Given the description of an element on the screen output the (x, y) to click on. 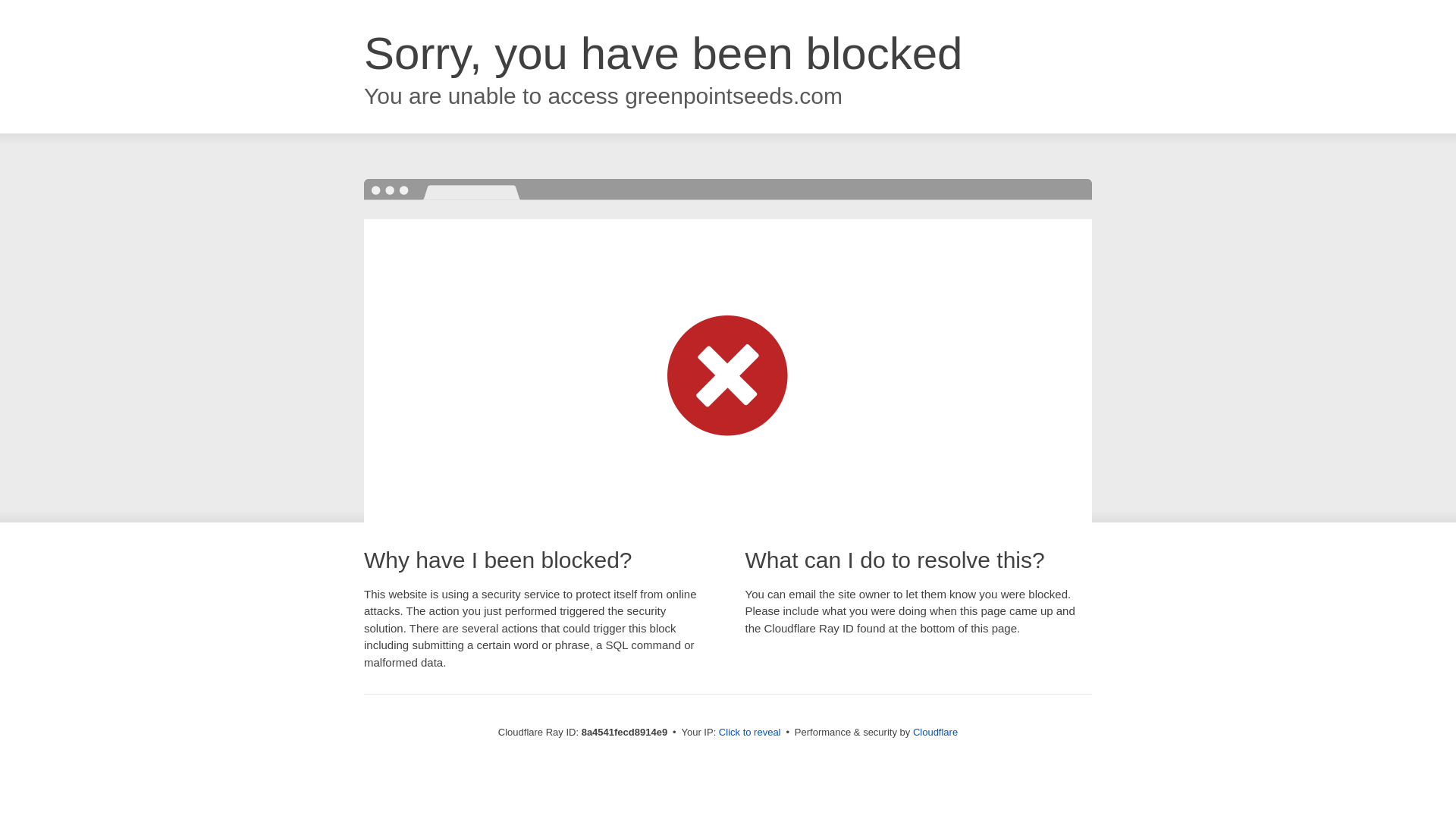
Cloudflare (935, 731)
Click to reveal (749, 732)
